Given the description of an element on the screen output the (x, y) to click on. 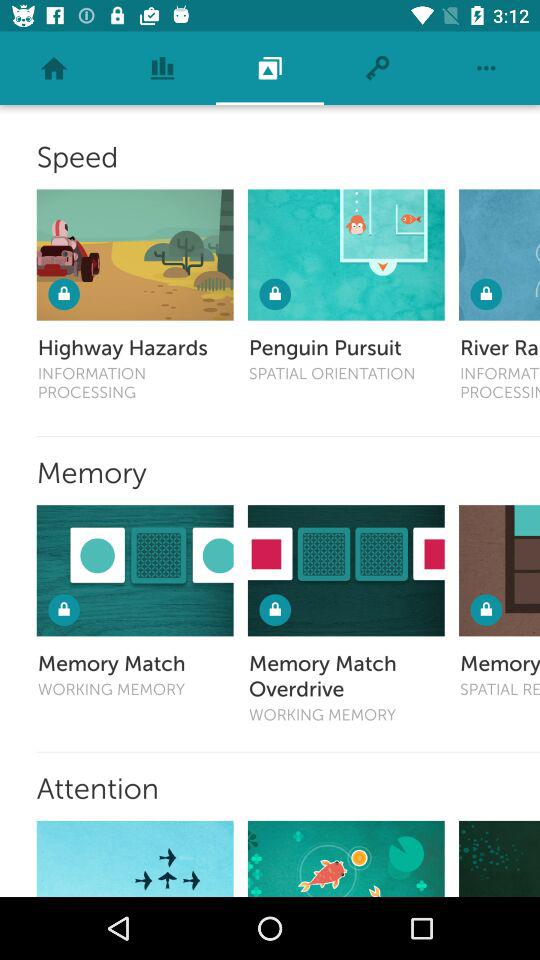
select game (345, 858)
